Given the description of an element on the screen output the (x, y) to click on. 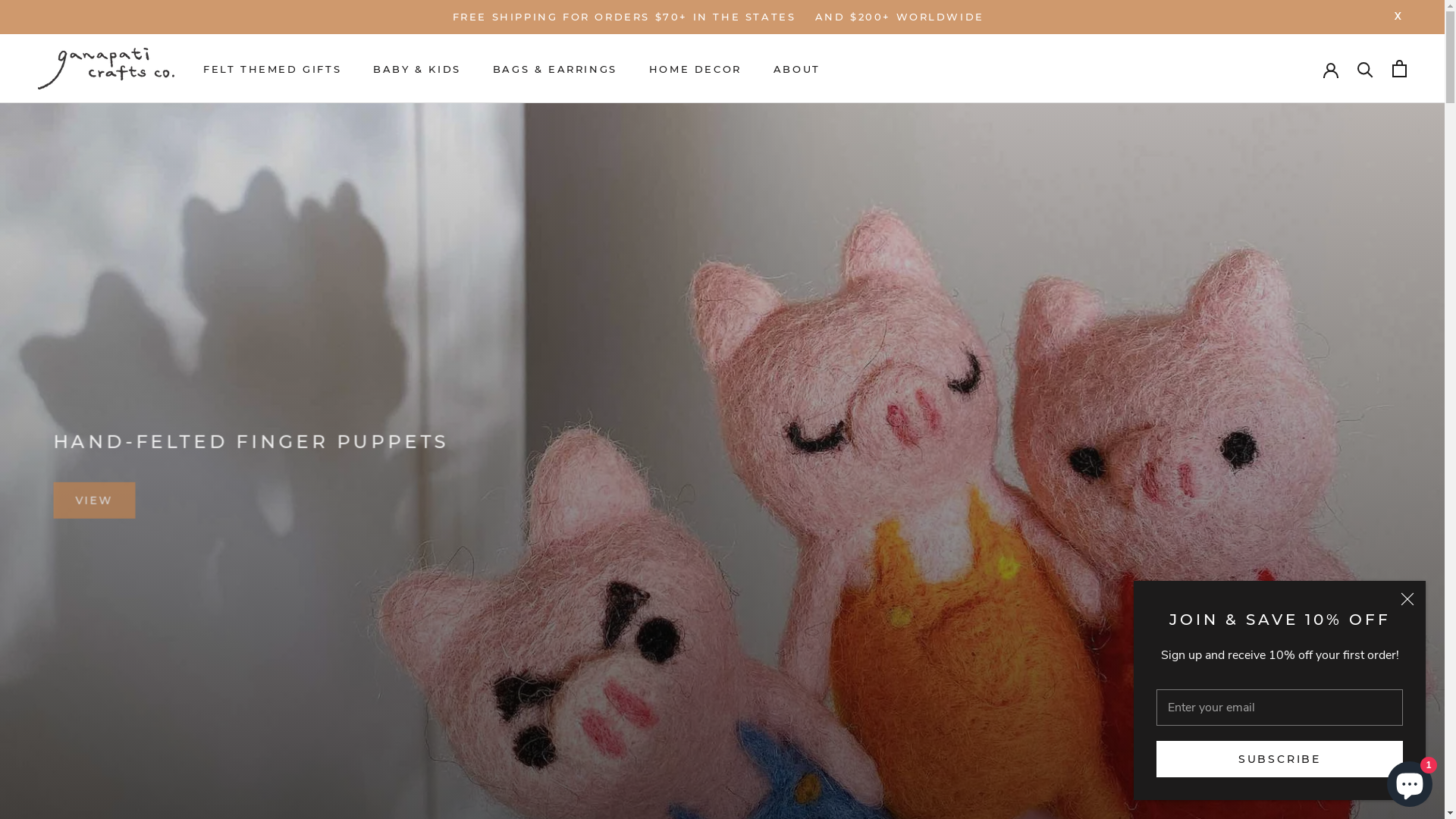
BAGS & EARRINGS
BAGS & EARRINGS Element type: text (554, 68)
BABY & KIDS
BABY & KIDS Element type: text (417, 68)
FELT THEMED GIFTS
FELT THEMED GIFTS Element type: text (272, 68)
Shopify online store chat Element type: hover (1409, 780)
ABOUT Element type: text (796, 68)
HOME DECOR
HOME DECOR Element type: text (695, 68)
SUBSCRIBE Element type: text (1279, 758)
